Given the description of an element on the screen output the (x, y) to click on. 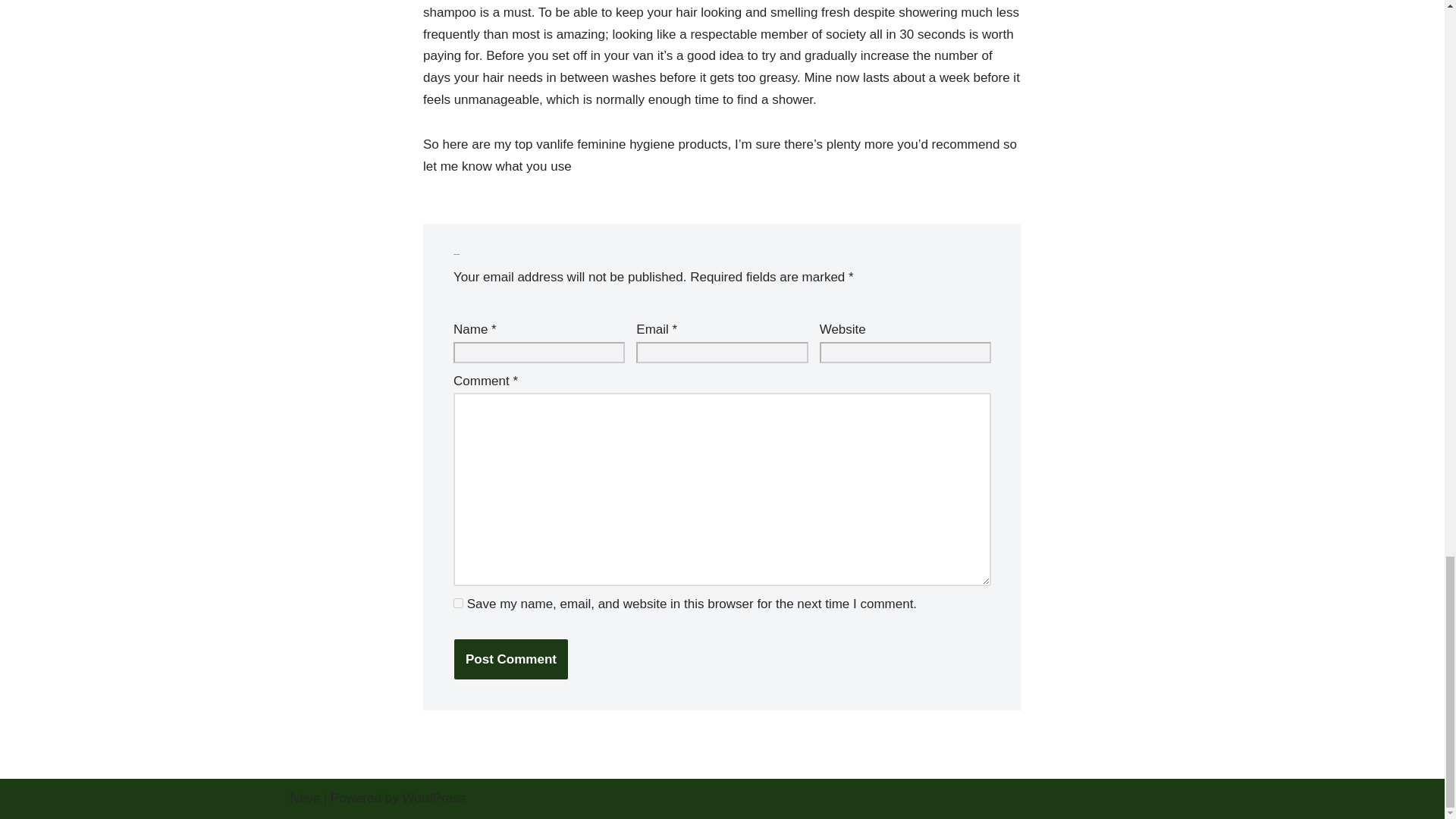
WordPress (434, 798)
Neve (304, 798)
yes (457, 603)
Post Comment (510, 659)
Post Comment (510, 659)
